Given the description of an element on the screen output the (x, y) to click on. 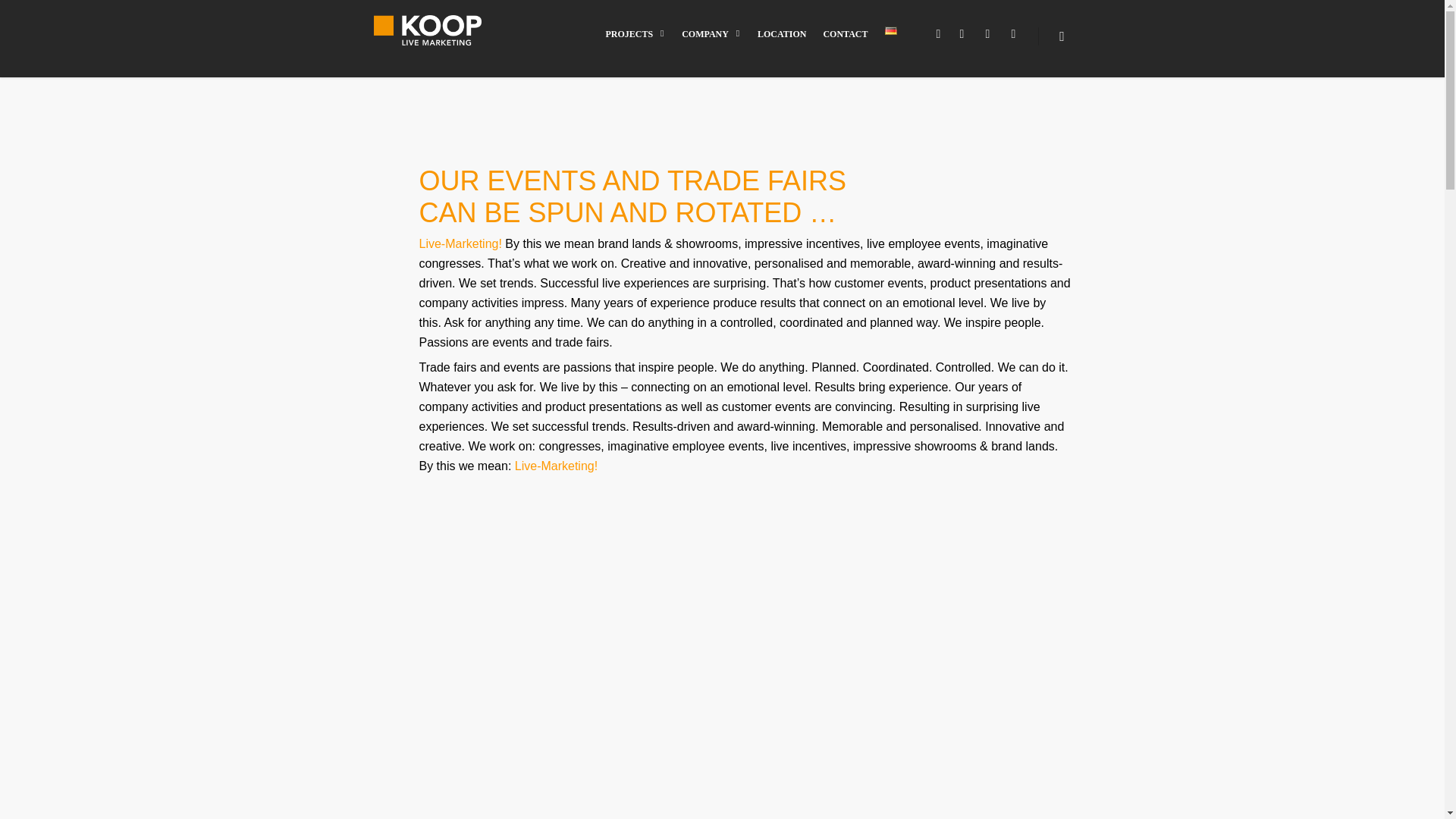
PROJECTS (634, 44)
CONTACT (845, 44)
COMPANY (711, 44)
LOCATION (781, 44)
